Given the description of an element on the screen output the (x, y) to click on. 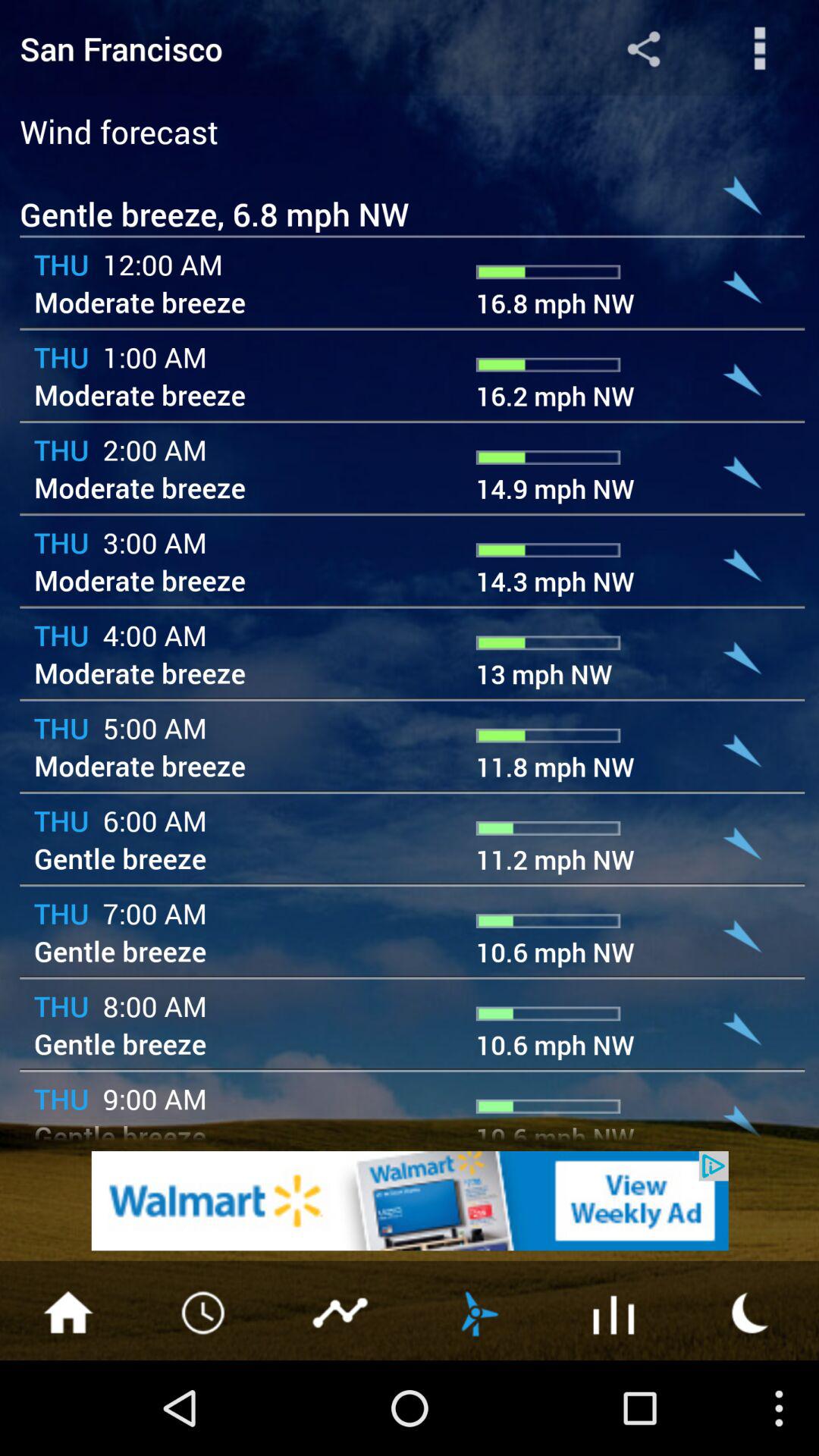
select the symbol (614, 1311)
